Given the description of an element on the screen output the (x, y) to click on. 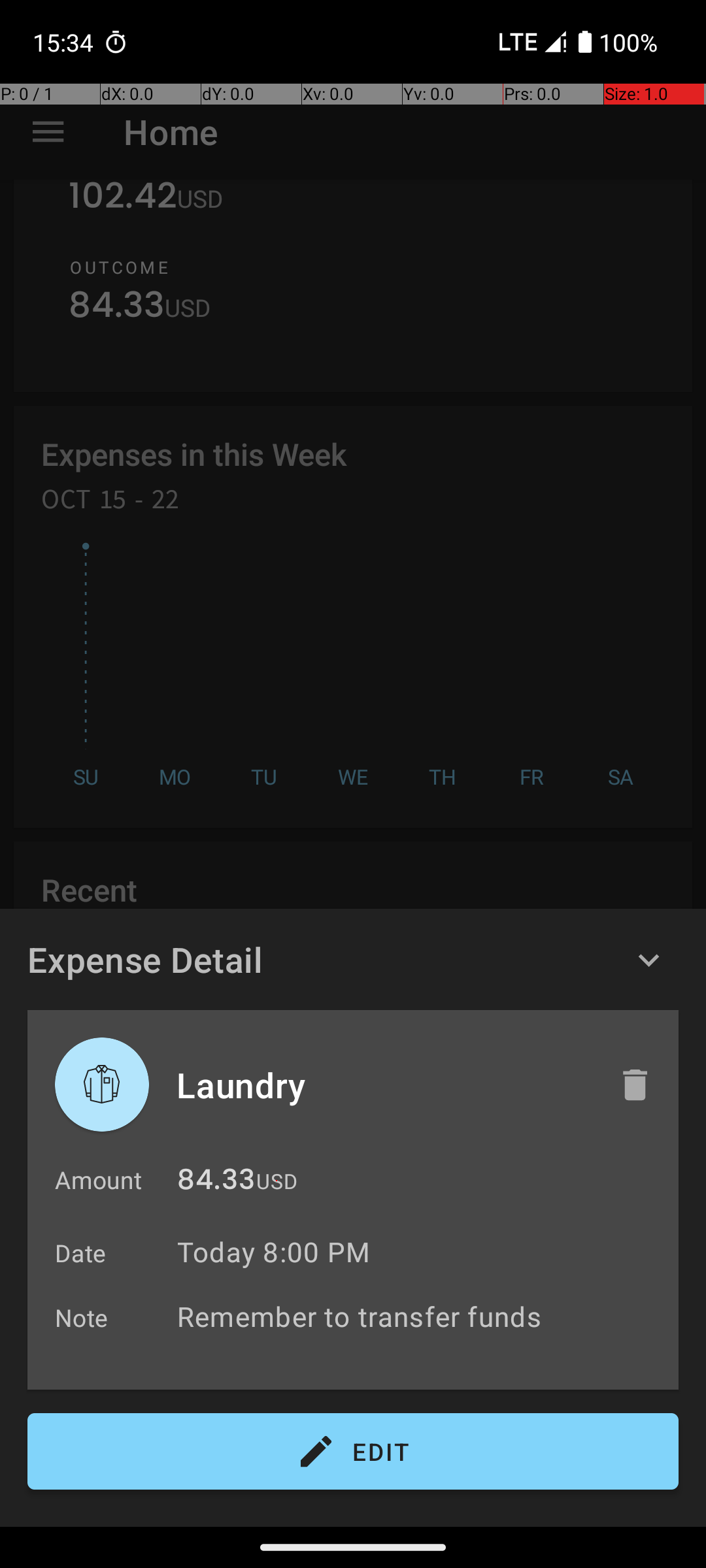
Laundry Element type: android.widget.TextView (383, 1084)
84.33 Element type: android.widget.TextView (215, 1182)
